Given the description of an element on the screen output the (x, y) to click on. 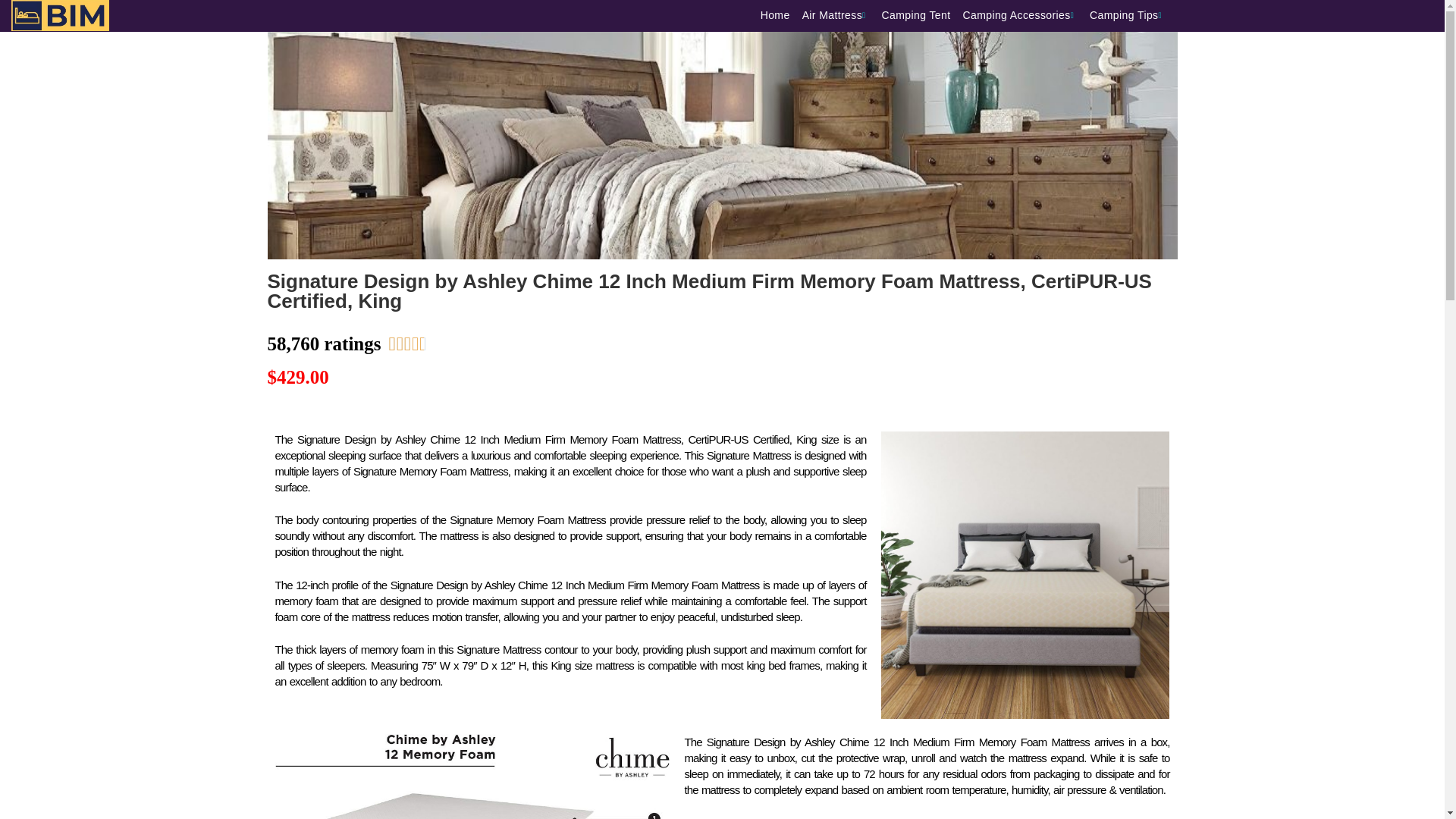
Home (781, 15)
Air Mattress (842, 15)
Camping Accessories (1025, 15)
Camping Tent (922, 15)
